Given the description of an element on the screen output the (x, y) to click on. 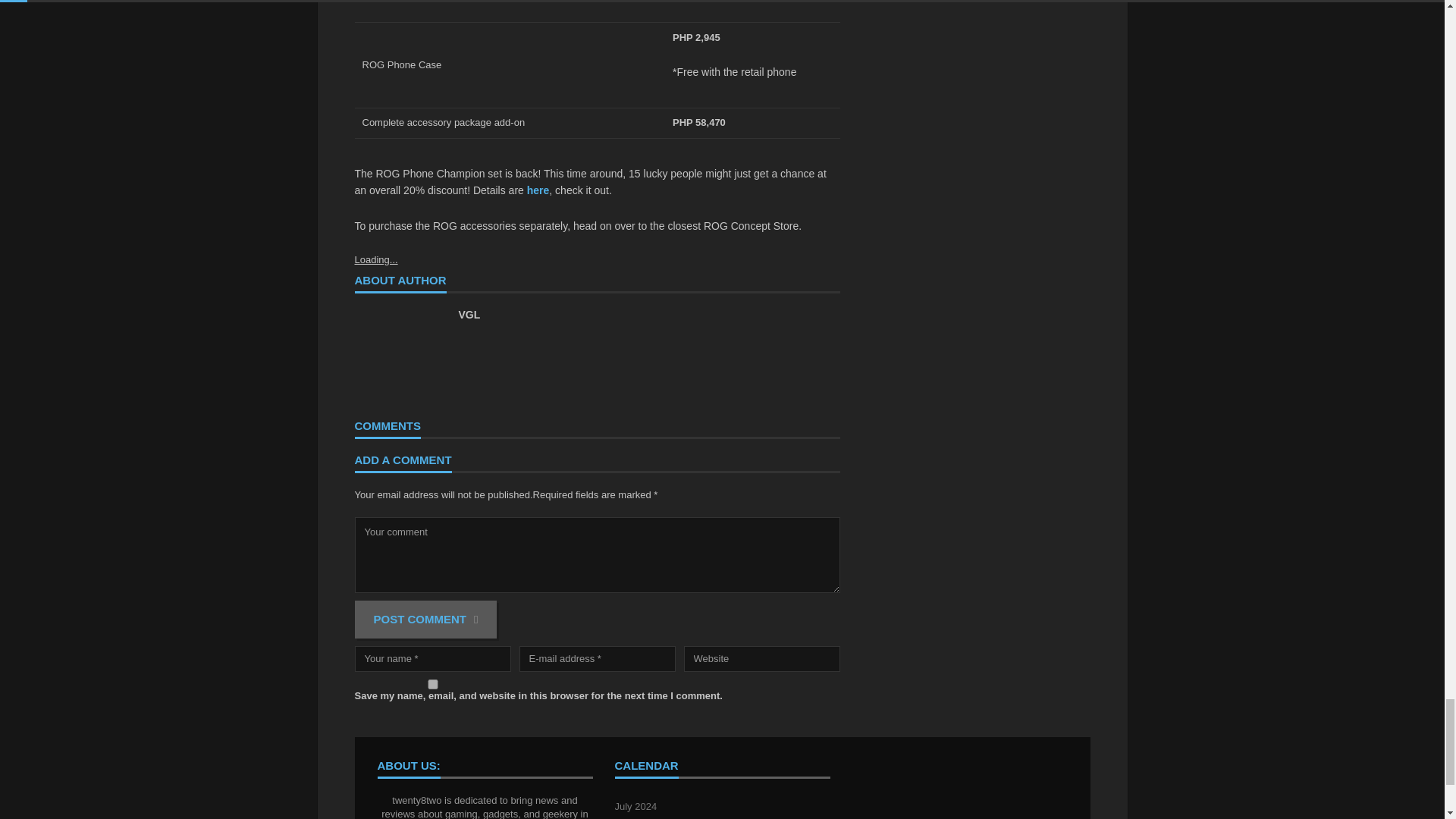
yes (433, 684)
